Given the description of an element on the screen output the (x, y) to click on. 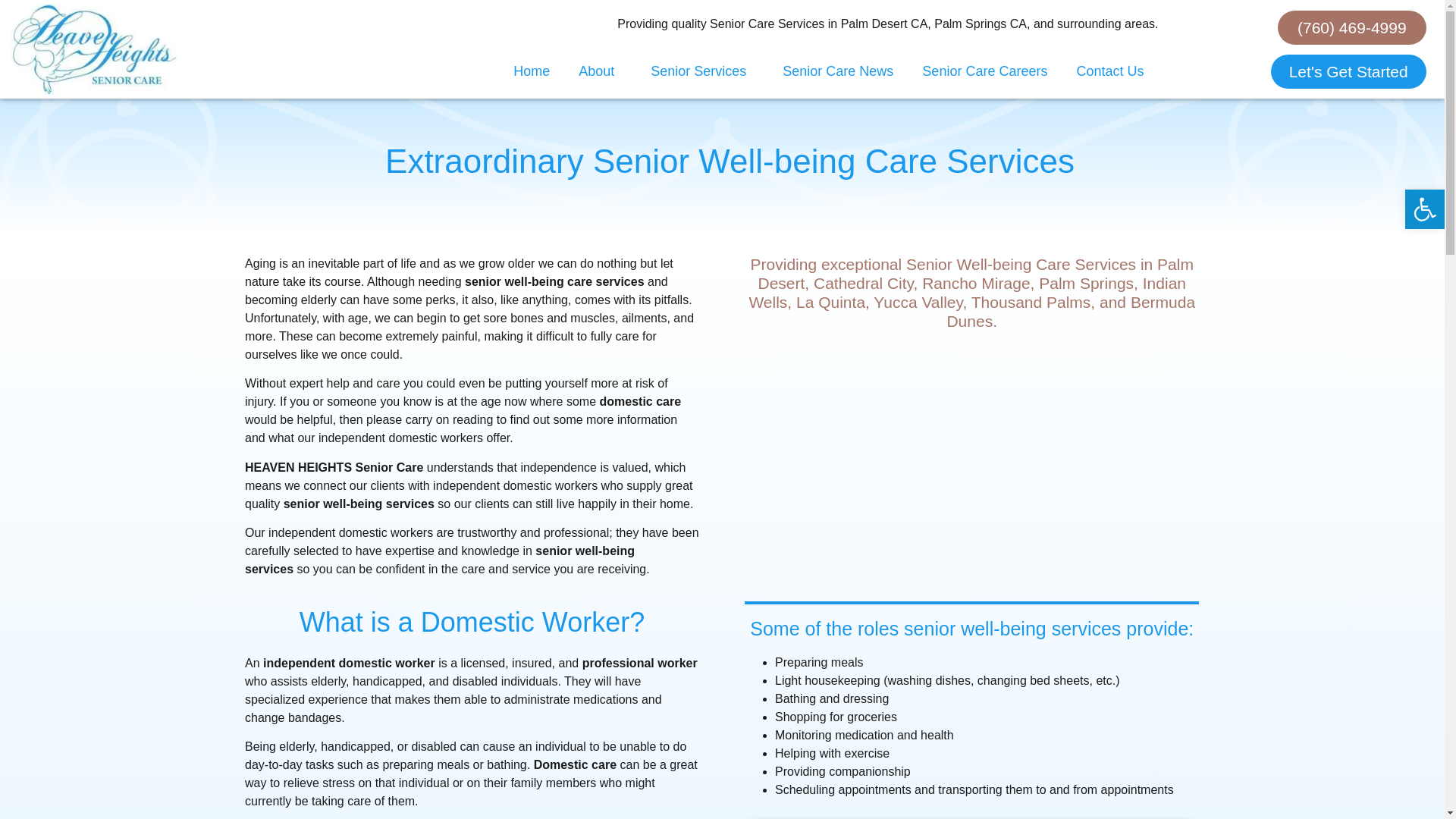
Senior Care Careers (984, 70)
Let's Get Started (1348, 71)
Contact Us (1109, 70)
Senior Care News (837, 70)
About (600, 70)
Accessibility Tools (1424, 209)
Home (531, 70)
Senior Services (702, 70)
